Given the description of an element on the screen output the (x, y) to click on. 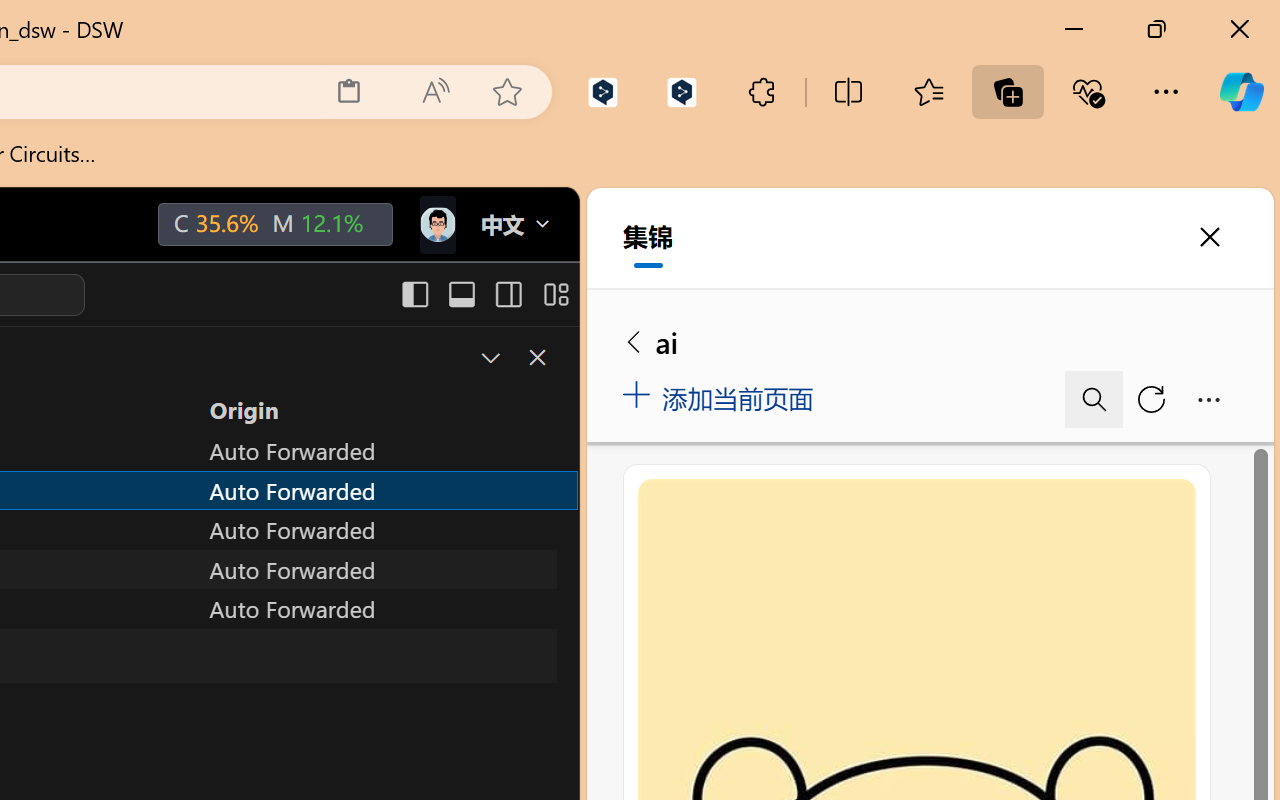
Toggle Primary Side Bar (Ctrl+B) (413, 294)
